Given the description of an element on the screen output the (x, y) to click on. 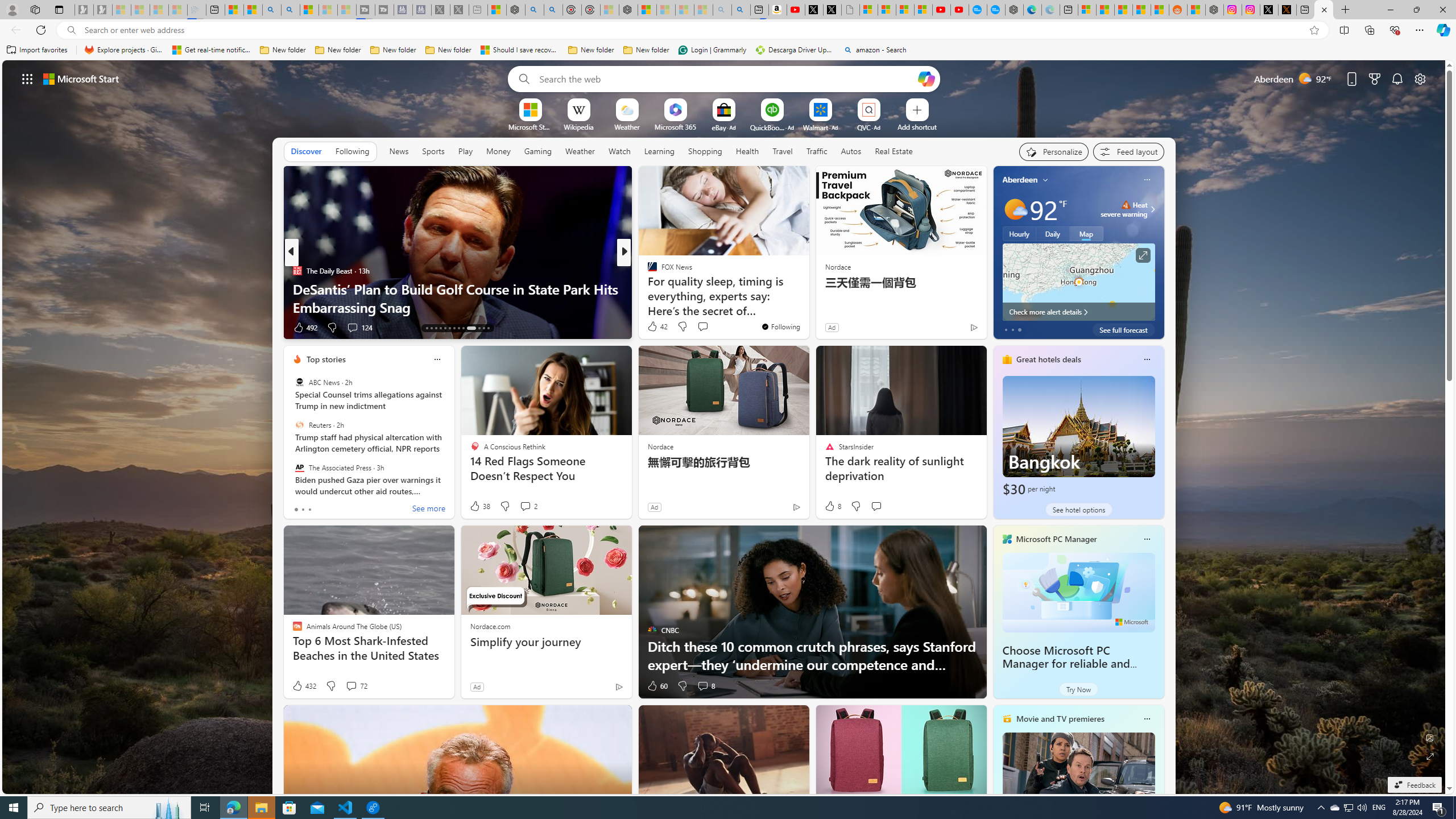
Real Estate (893, 151)
AutomationID: tab-21 (462, 328)
AutomationID: tab-14 (431, 328)
AutomationID: tab-18 (449, 328)
AutomationID: tab-25 (488, 328)
Money (498, 151)
Microsoft rewards (1374, 78)
